Given the description of an element on the screen output the (x, y) to click on. 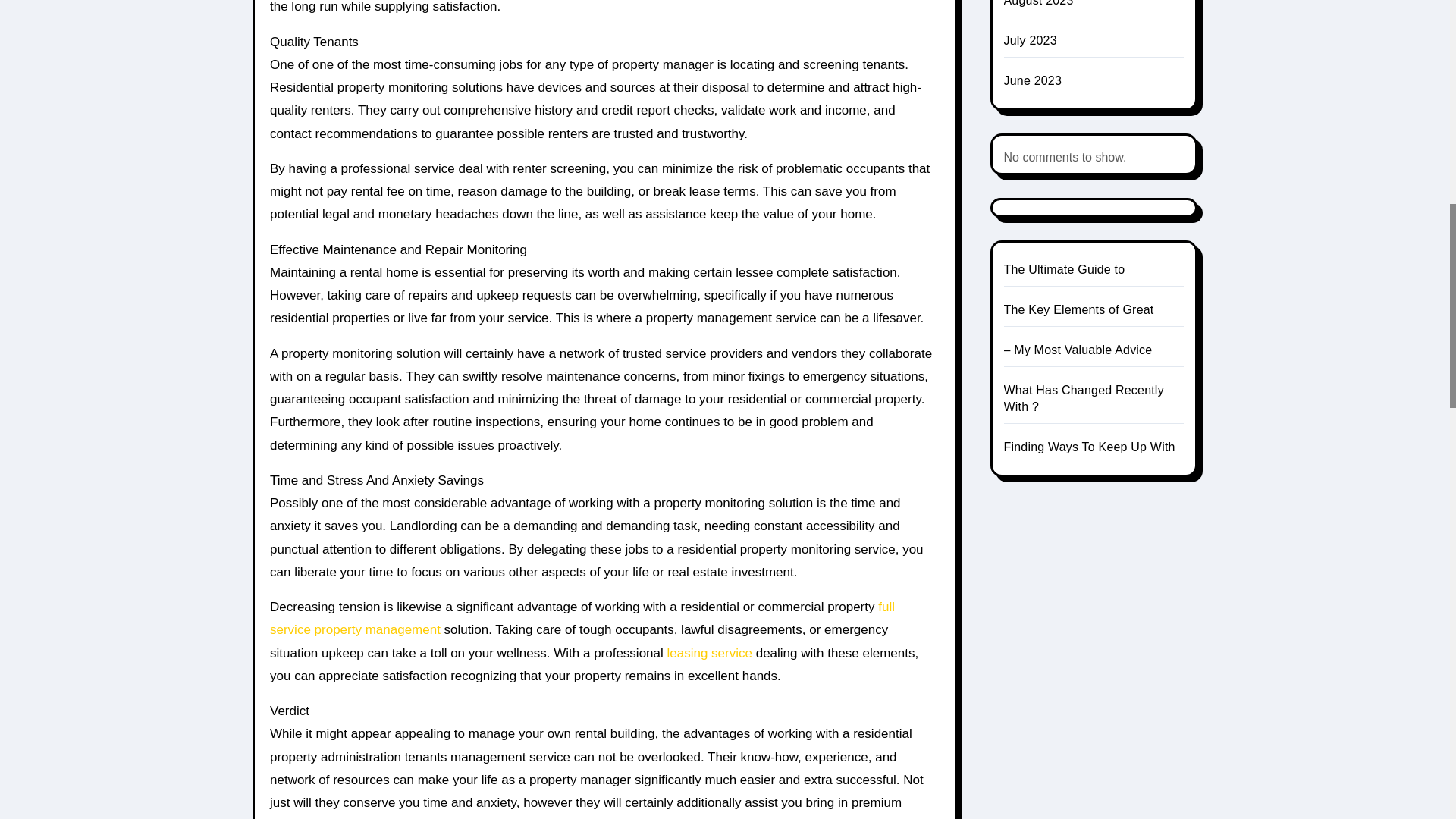
leasing service (709, 653)
full service property management (582, 618)
